Given the description of an element on the screen output the (x, y) to click on. 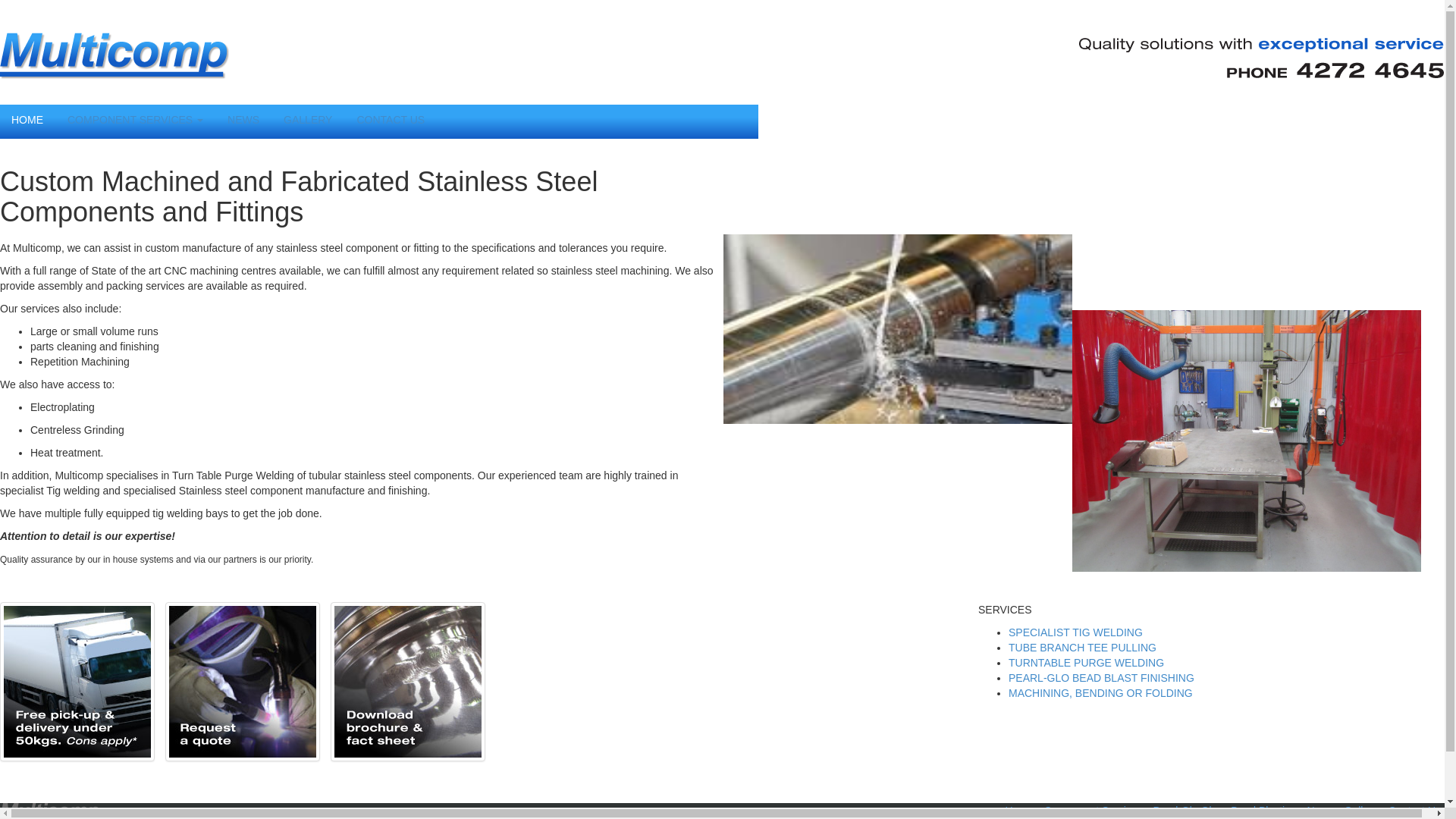
HOME Element type: text (27, 119)
GALLERY Element type: text (307, 119)
Component Services Element type: text (1093, 810)
TUBE BRANCH TEE PULLING Element type: text (1082, 647)
TURNTABLE PURGE WELDING Element type: text (1086, 662)
Home Element type: text (1019, 810)
News Element type: text (1320, 810)
NEWS Element type: text (243, 119)
MACHINING, BENDING OR FOLDING Element type: text (1100, 693)
COMPONENT SERVICES Element type: text (135, 119)
PEARL-GLO BEAD BLAST FINISHING Element type: text (1101, 677)
Contact Us Element type: text (1414, 810)
Pearl-Glo Glass Bead Blasting Element type: text (1224, 810)
SPECIALIST TIG WELDING Element type: text (1075, 632)
Gallery Element type: text (1360, 810)
CONTACT US Element type: text (390, 119)
